Given the description of an element on the screen output the (x, y) to click on. 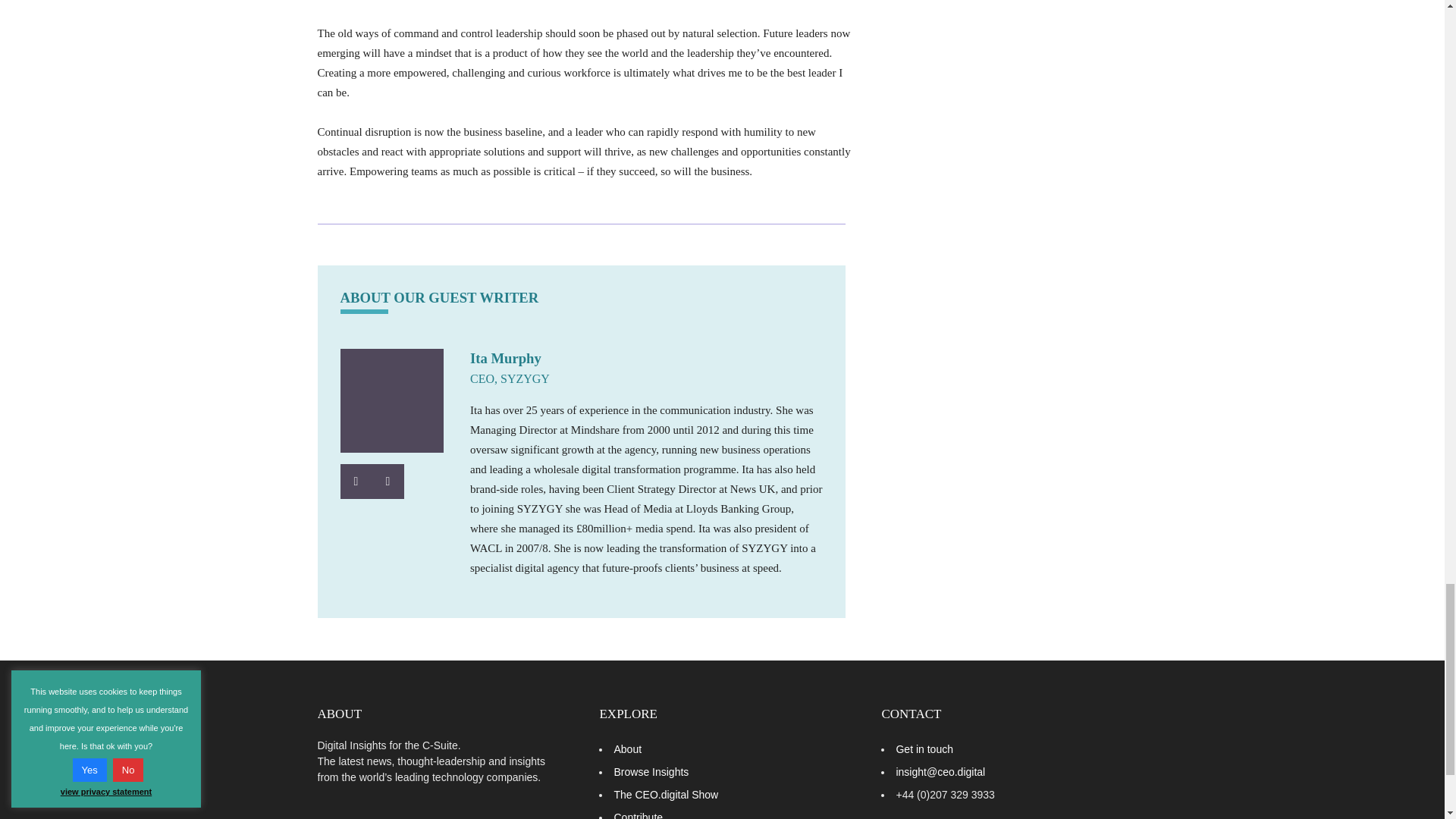
Visit the SYZYGY website (387, 481)
Connect with Ita Murphy on LinkedIn (355, 481)
